Given the description of an element on the screen output the (x, y) to click on. 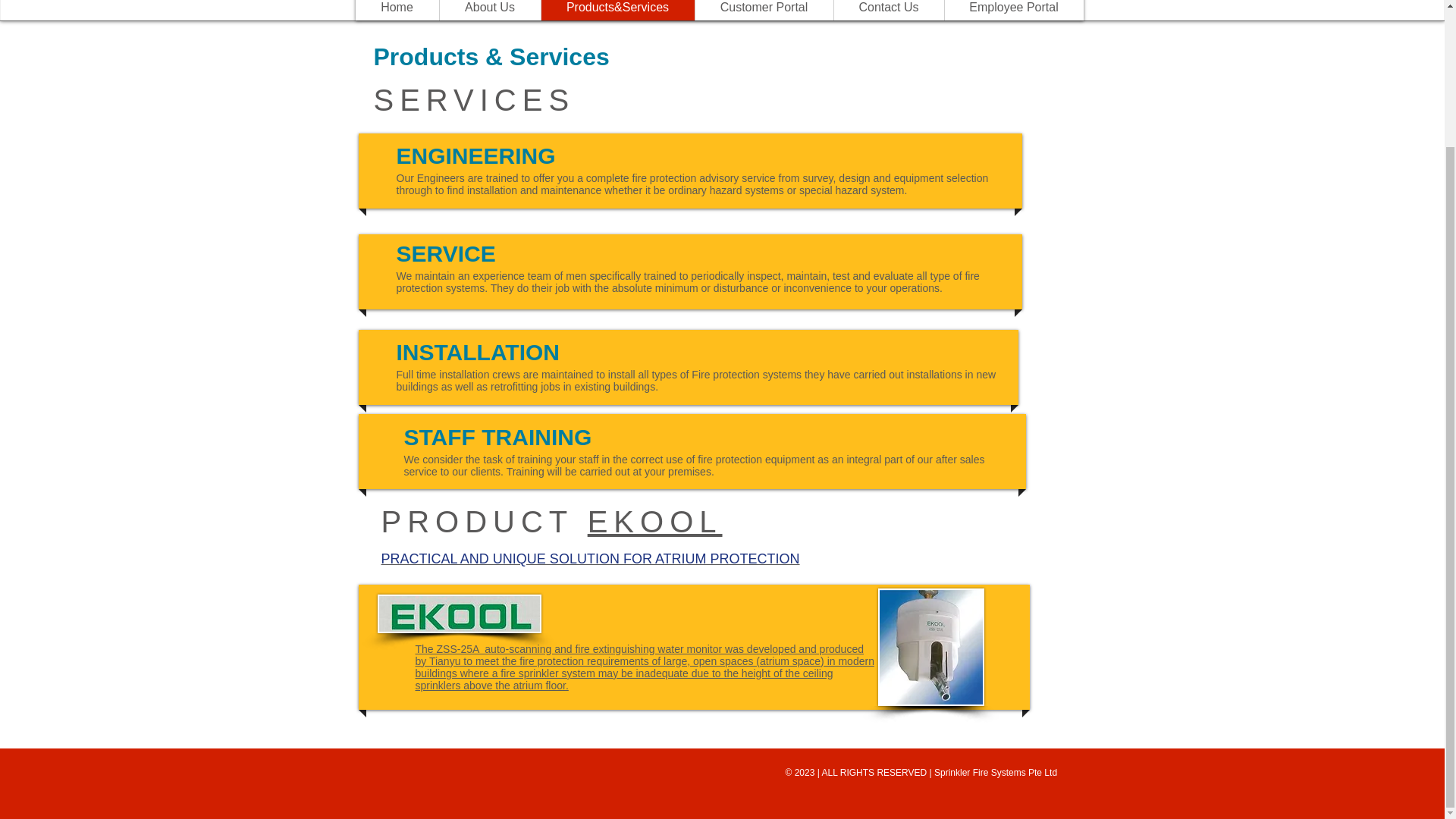
Home (396, 10)
Contact Us (887, 10)
PRACTICAL AND UNIQUE SOLUTION FOR ATRIUM PROTECTION (589, 558)
Customer Portal (763, 10)
Employee Portal (1013, 10)
About Us (489, 10)
Sprinkler Fire Systems Pte Ltd (995, 772)
